Given the description of an element on the screen output the (x, y) to click on. 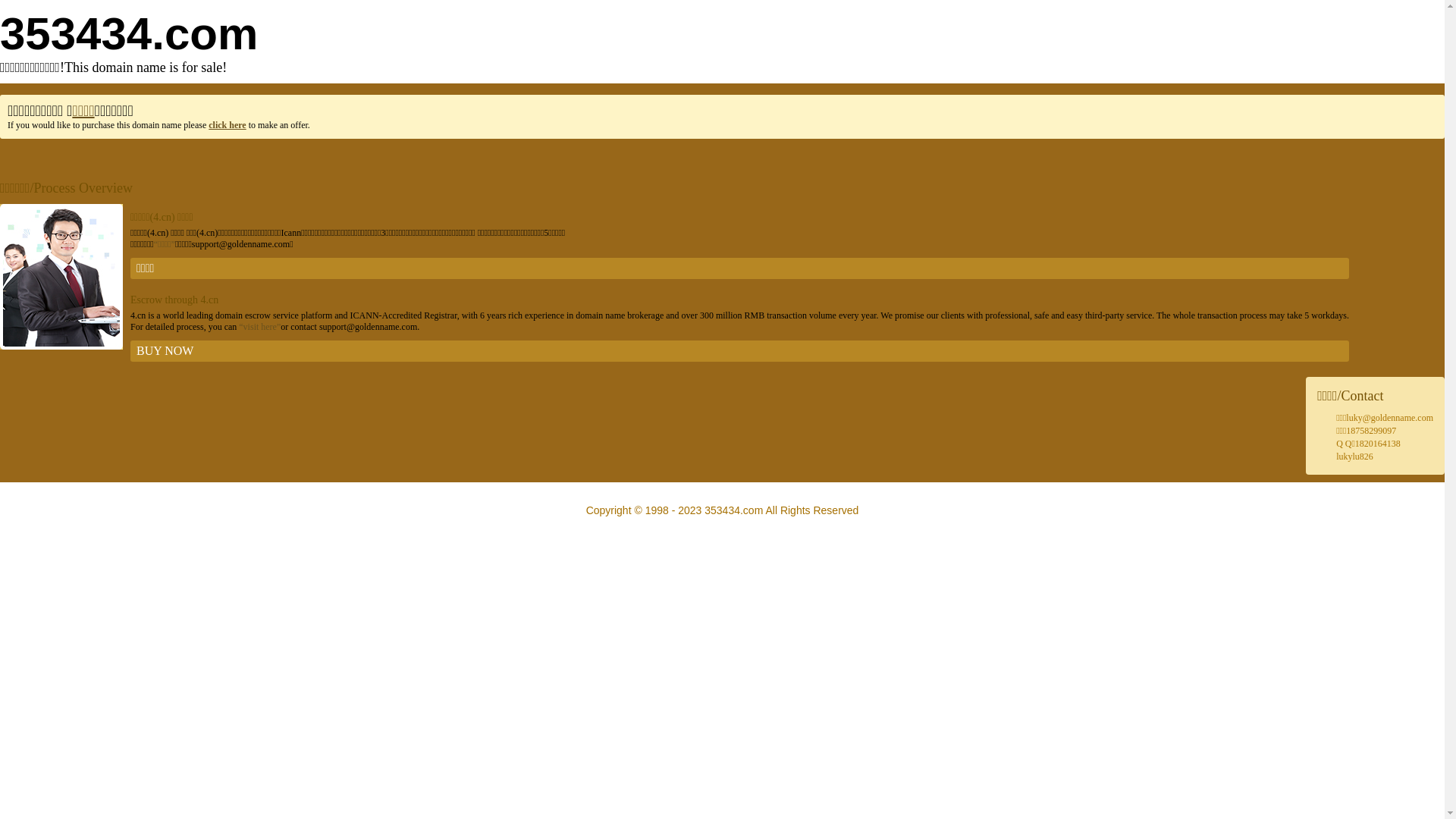
click here Element type: text (226, 124)
BUY NOW Element type: text (739, 350)
